Given the description of an element on the screen output the (x, y) to click on. 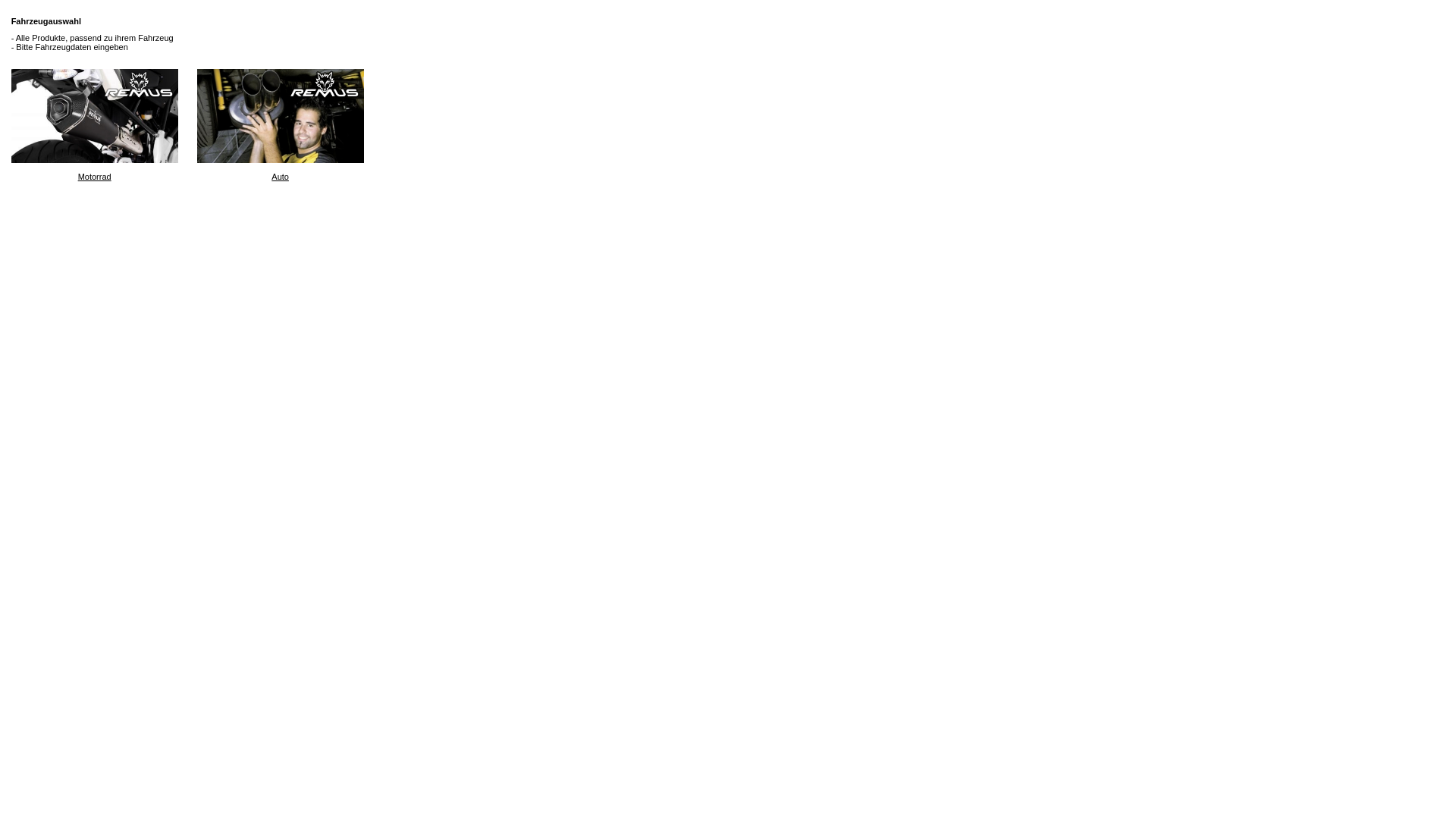
Motorrad Element type: text (94, 125)
Auto Element type: hover (280, 116)
Auto Element type: text (280, 125)
Motorrad Element type: hover (94, 116)
